Given the description of an element on the screen output the (x, y) to click on. 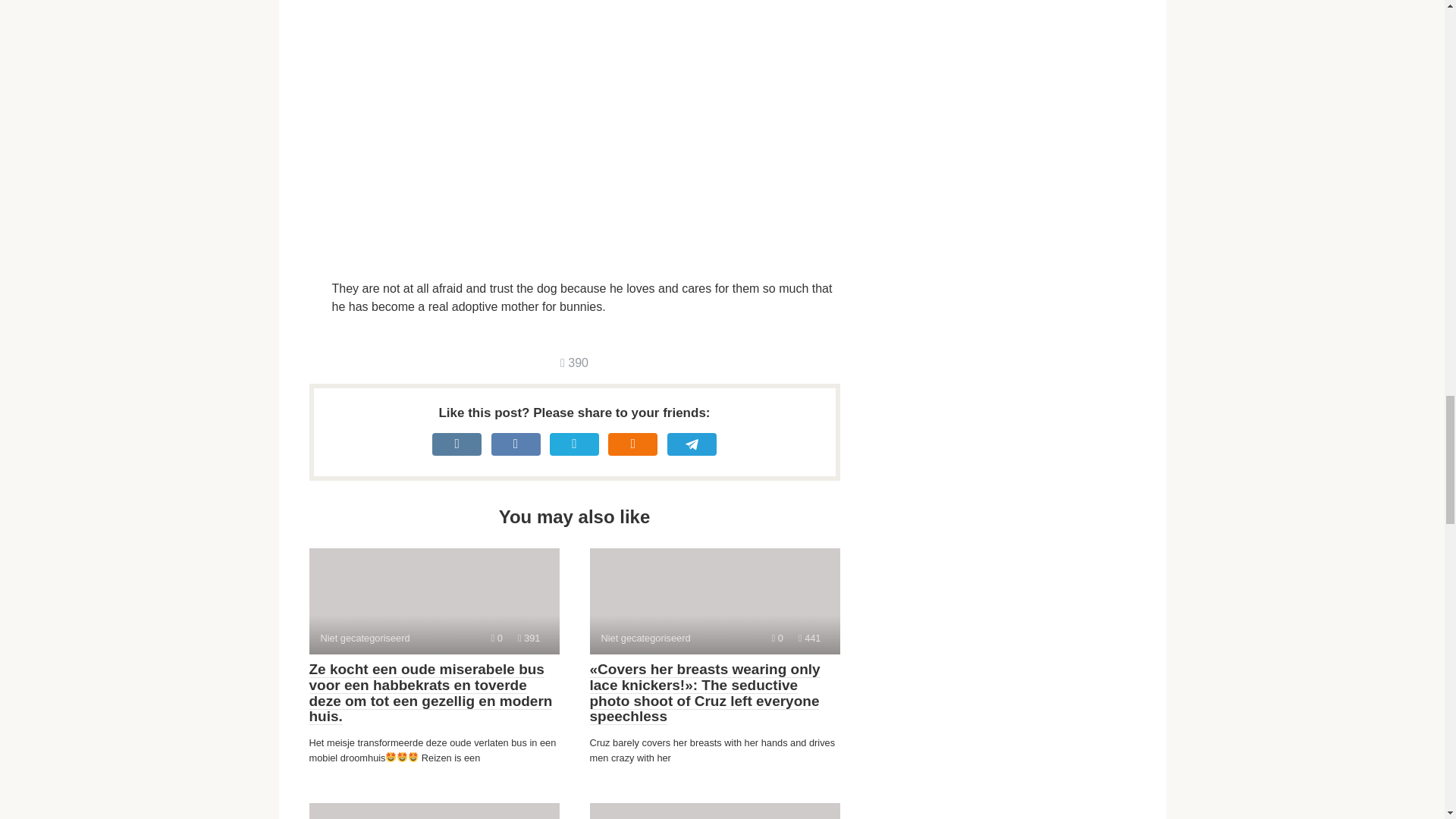
Views (714, 600)
Comments (574, 362)
Comments (714, 811)
Views (777, 637)
Views (497, 637)
